Given the description of an element on the screen output the (x, y) to click on. 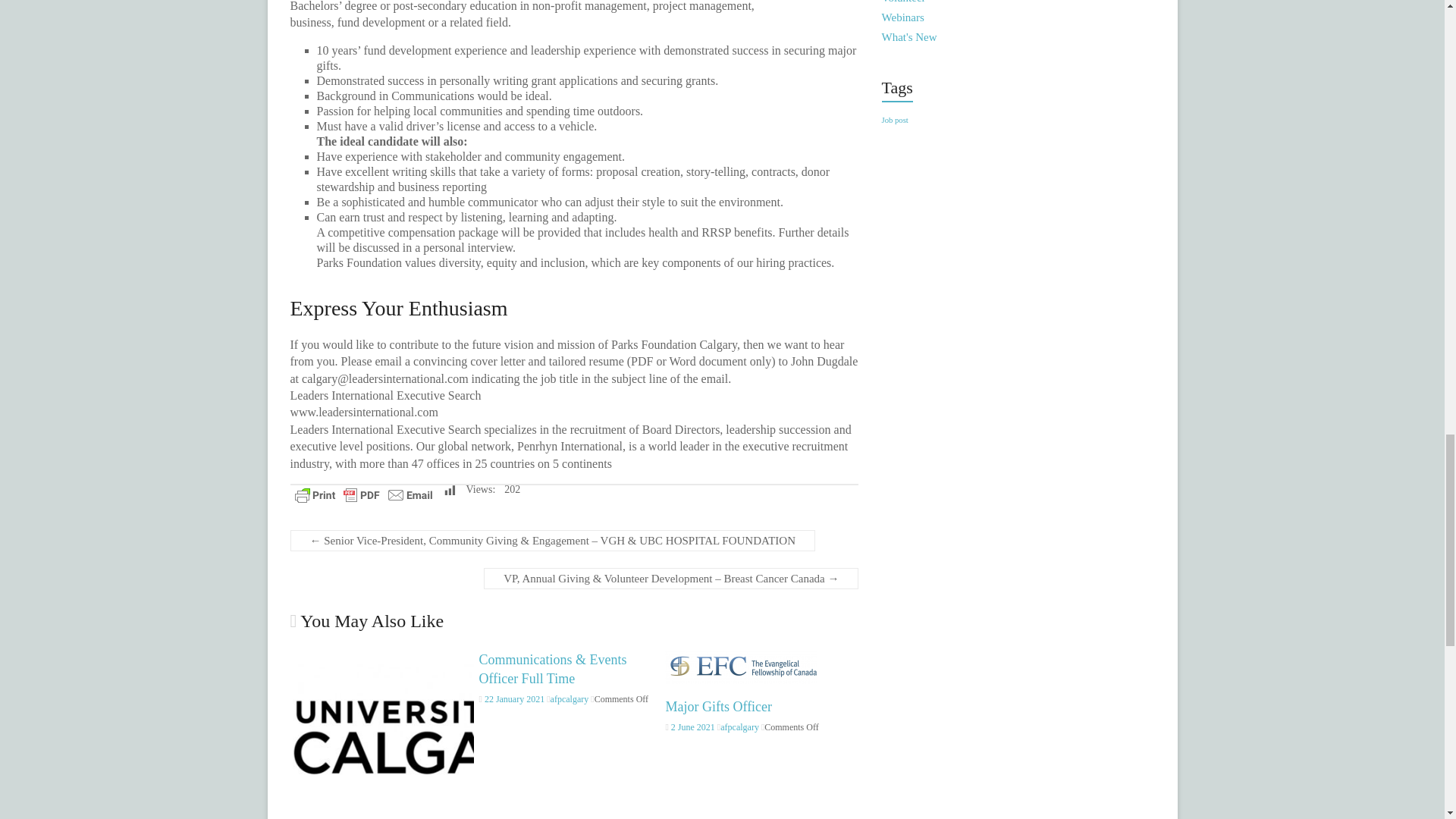
afpcalgary (739, 726)
afpcalgary (569, 698)
2:26 pm (689, 726)
5:57 pm (511, 698)
Major Gifts Officer (740, 657)
Major Gifts Officer (718, 706)
